Given the description of an element on the screen output the (x, y) to click on. 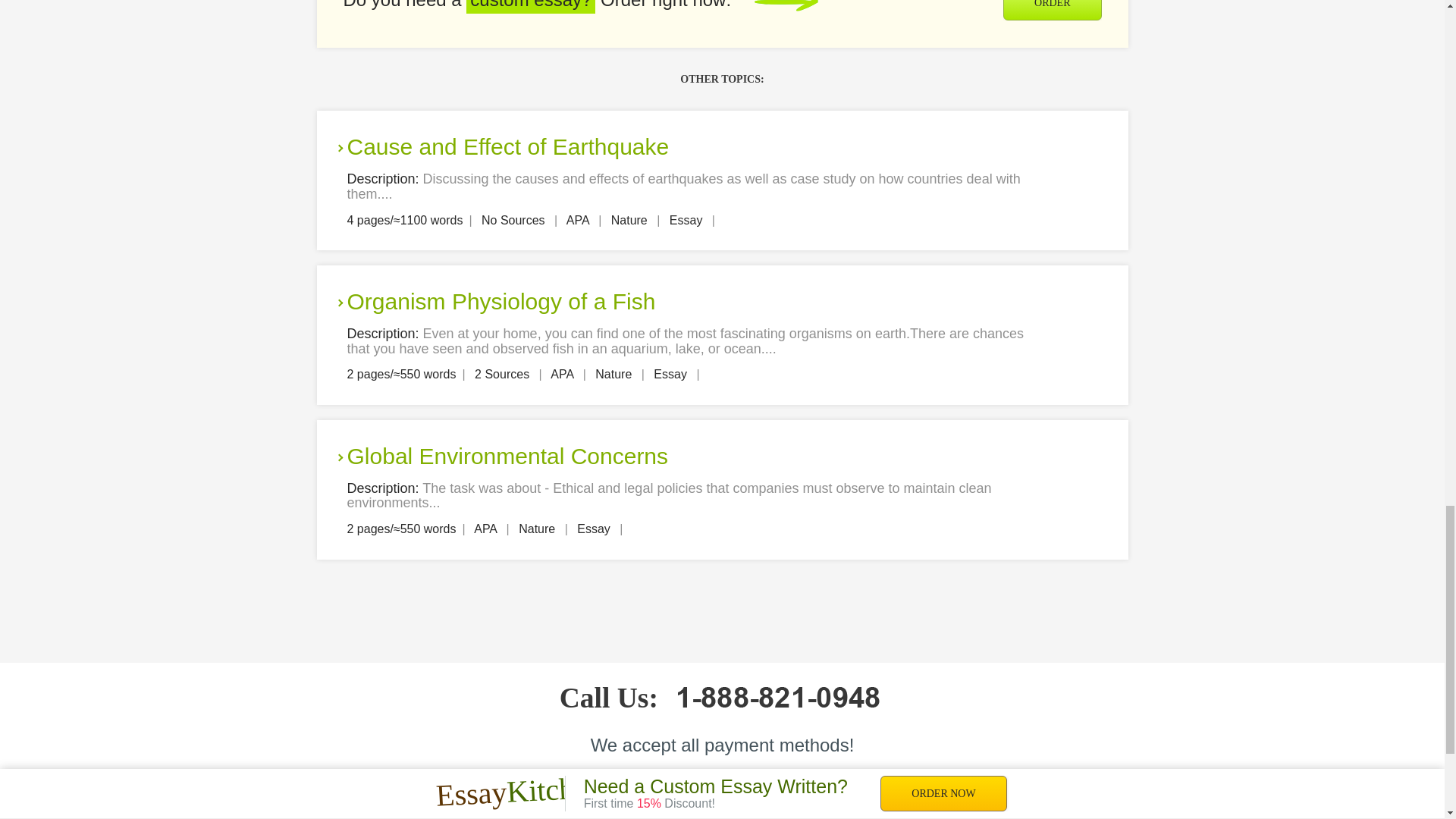
MS Word (1084, 304)
MS Word (1084, 149)
MS Word (1084, 459)
